Given the description of an element on the screen output the (x, y) to click on. 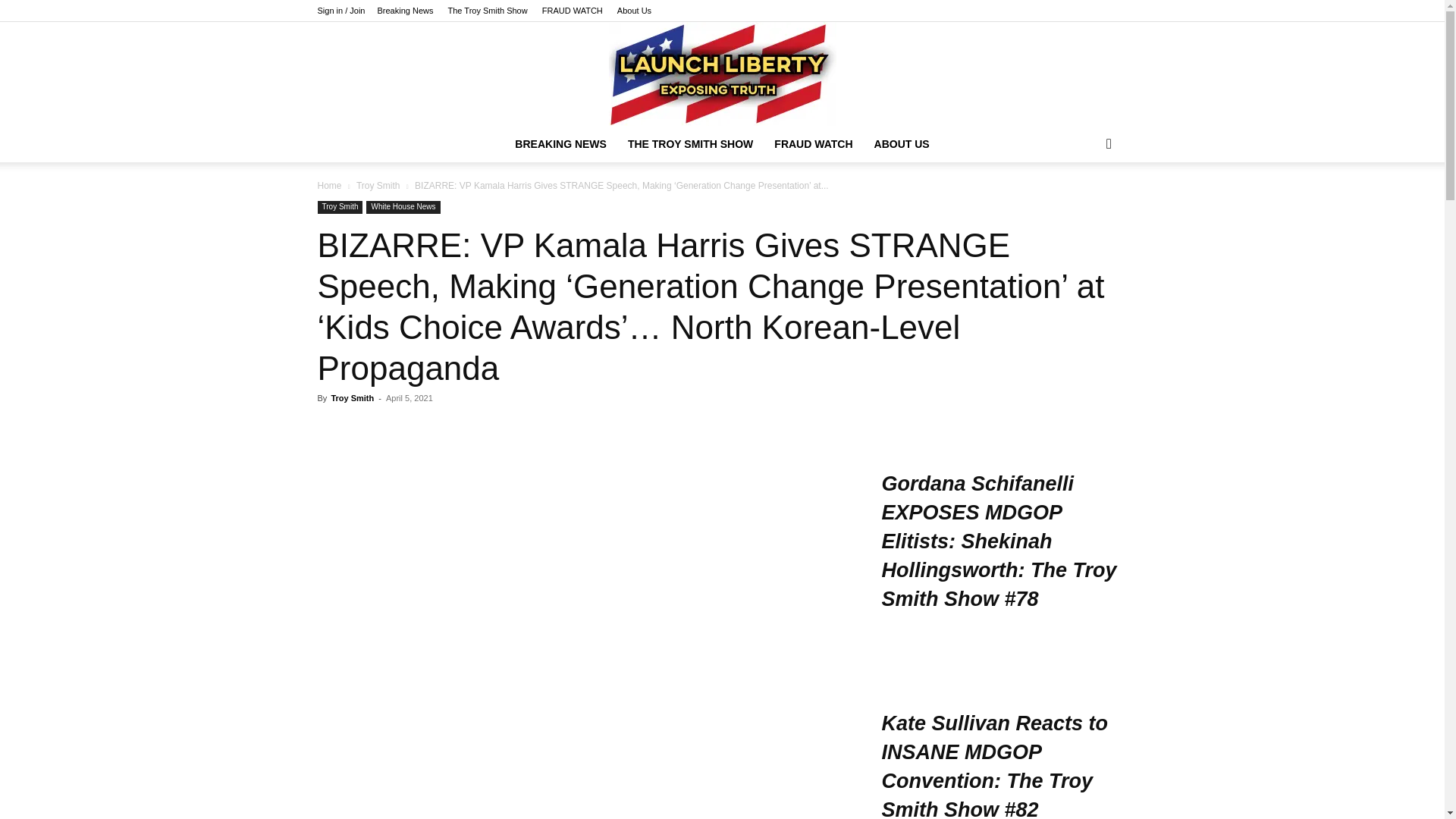
Troy Smith (339, 206)
View all posts in Troy Smith (378, 185)
FRAUD WATCH (571, 10)
White House News (402, 206)
The Troy Smith Show (487, 10)
FRAUD WATCH (812, 144)
ABOUT US (901, 144)
Search (1085, 204)
About Us (633, 10)
THE TROY SMITH SHOW (689, 144)
Troy Smith (352, 397)
Breaking News (404, 10)
Home (328, 185)
Troy Smith (378, 185)
BREAKING NEWS (560, 144)
